Given the description of an element on the screen output the (x, y) to click on. 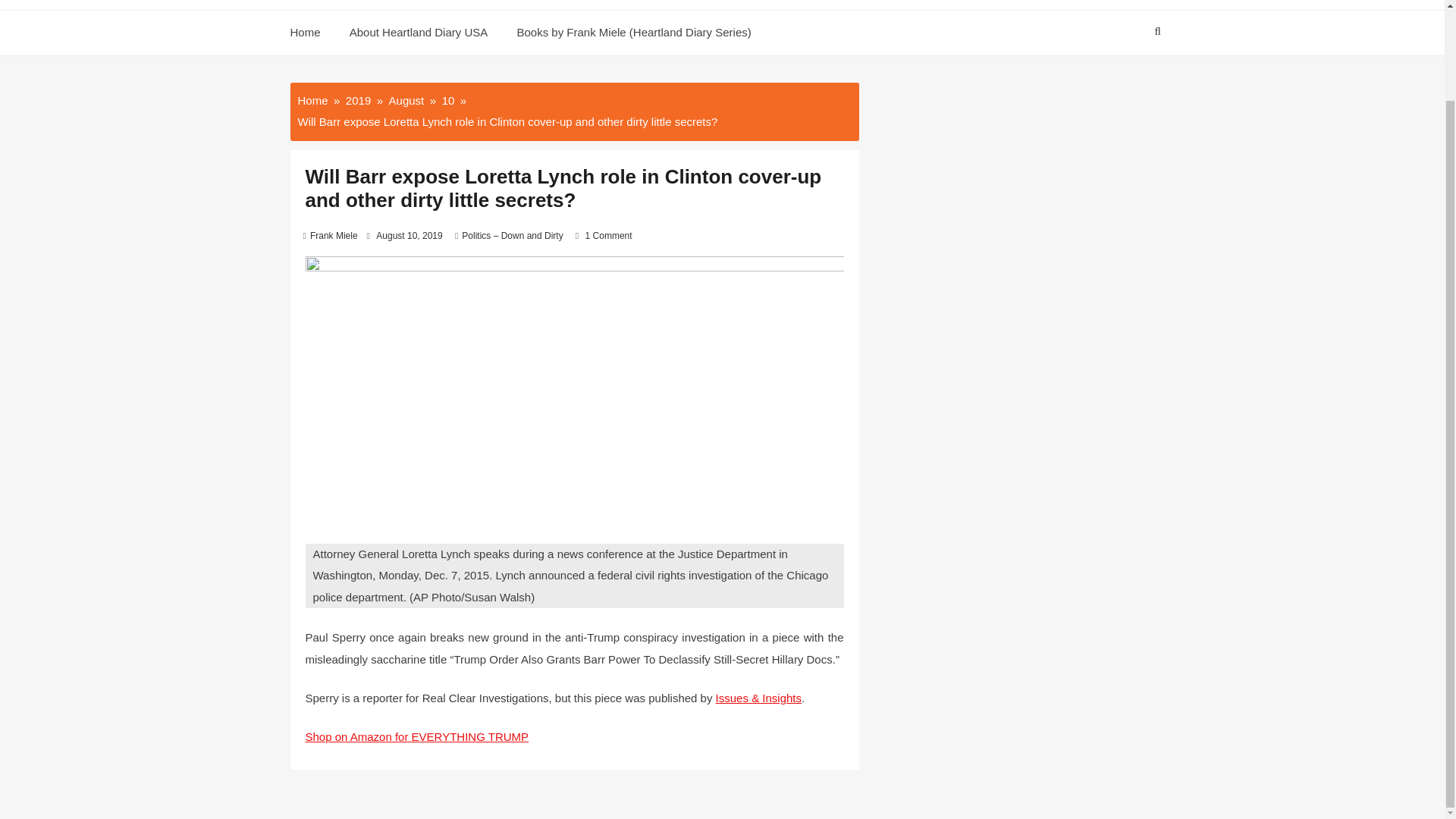
2019 (358, 99)
August (406, 99)
Home (312, 99)
August 10, 2019 (408, 235)
1 Comment (608, 235)
About Heartland Diary USA (418, 32)
Home (311, 32)
Shop on Amazon for EVERYTHING TRUMP (416, 736)
Frank Miele (334, 235)
10 (448, 99)
